Given the description of an element on the screen output the (x, y) to click on. 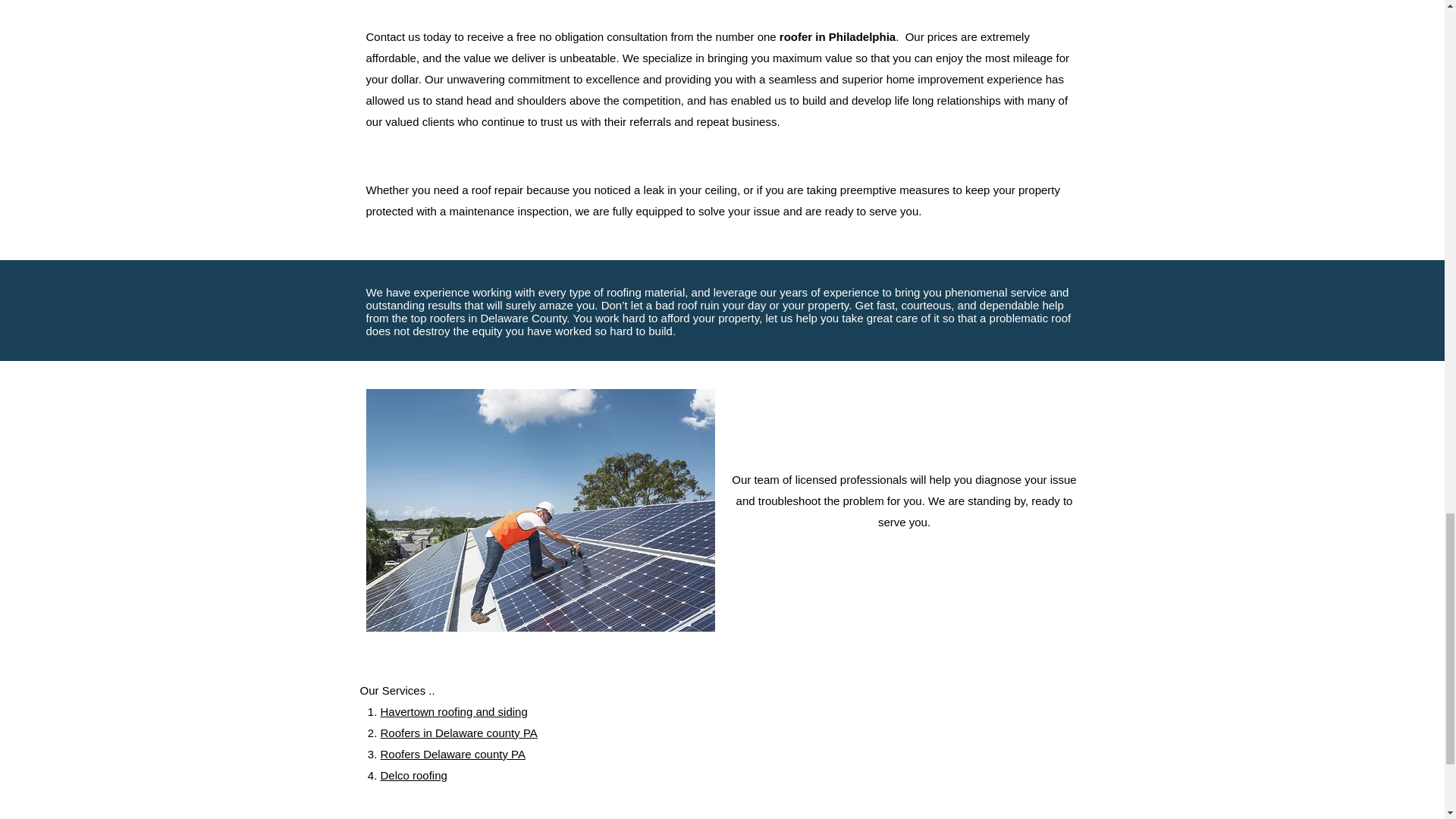
Delco roofing (413, 775)
Havertown roofing and siding (453, 711)
Roofers Delaware county PA (452, 753)
Roofers in Delaware county PA (458, 732)
